Given the description of an element on the screen output the (x, y) to click on. 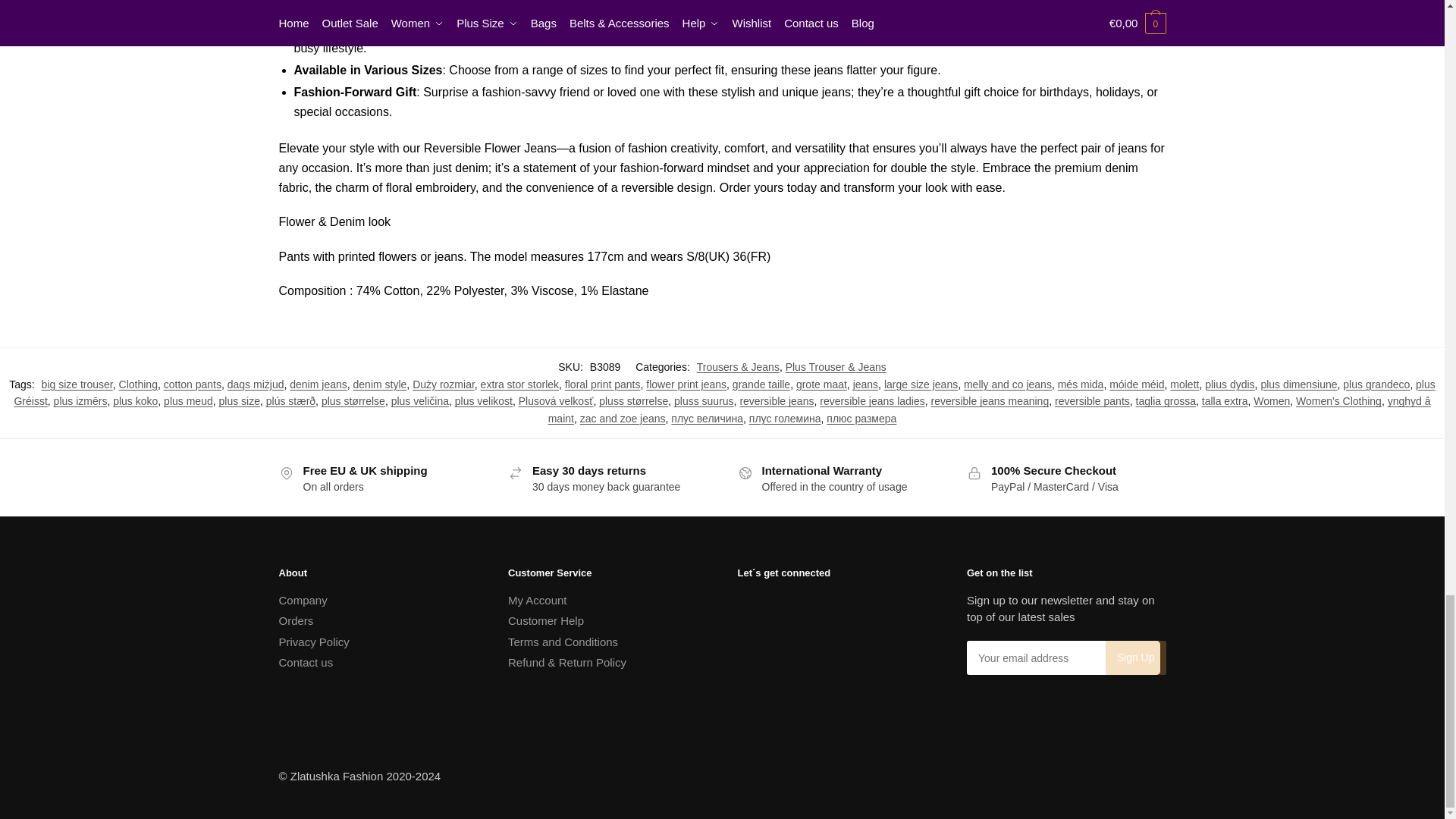
Sign up (1135, 657)
